Given the description of an element on the screen output the (x, y) to click on. 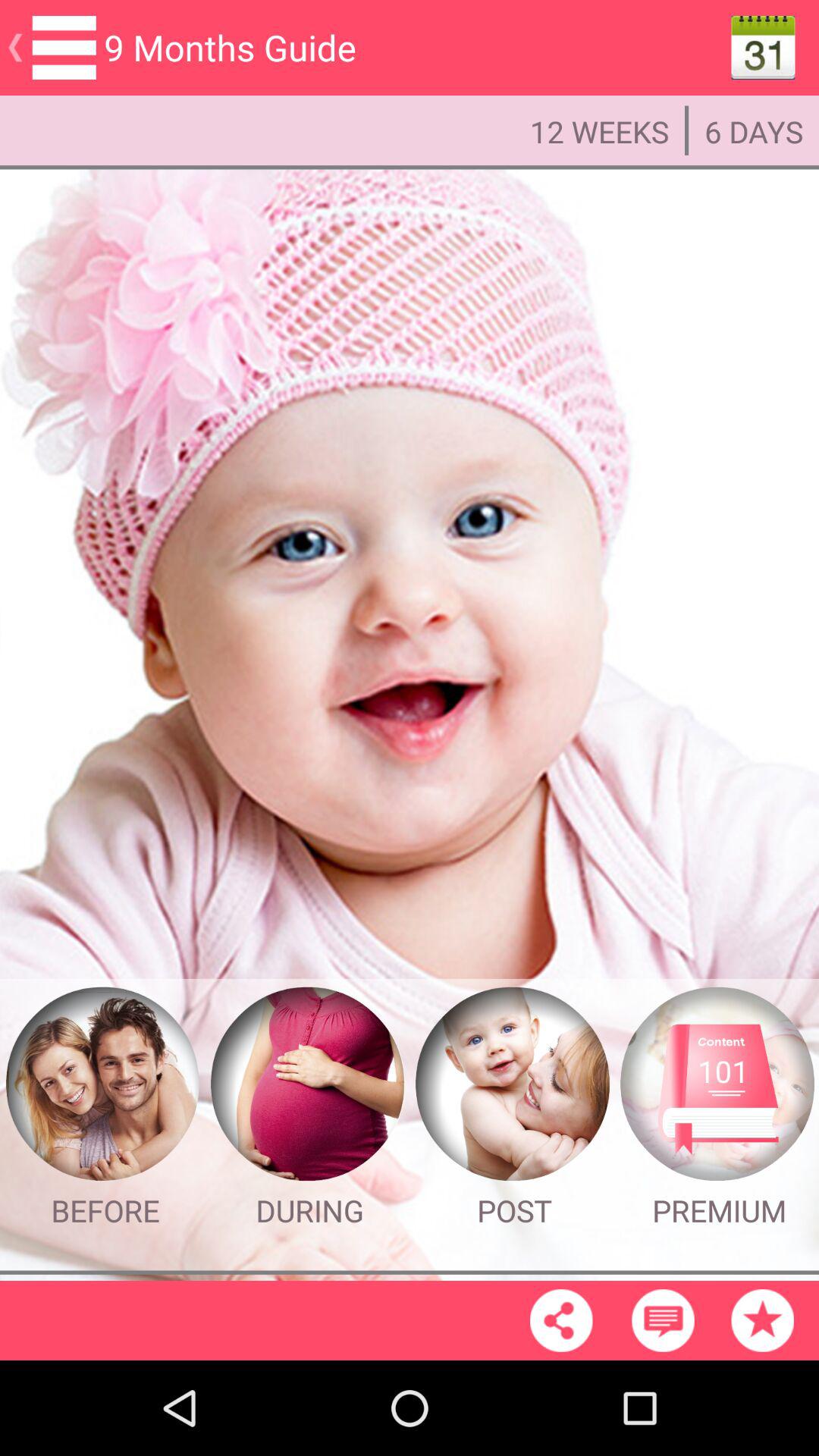
go to share button (561, 1320)
